Given the description of an element on the screen output the (x, y) to click on. 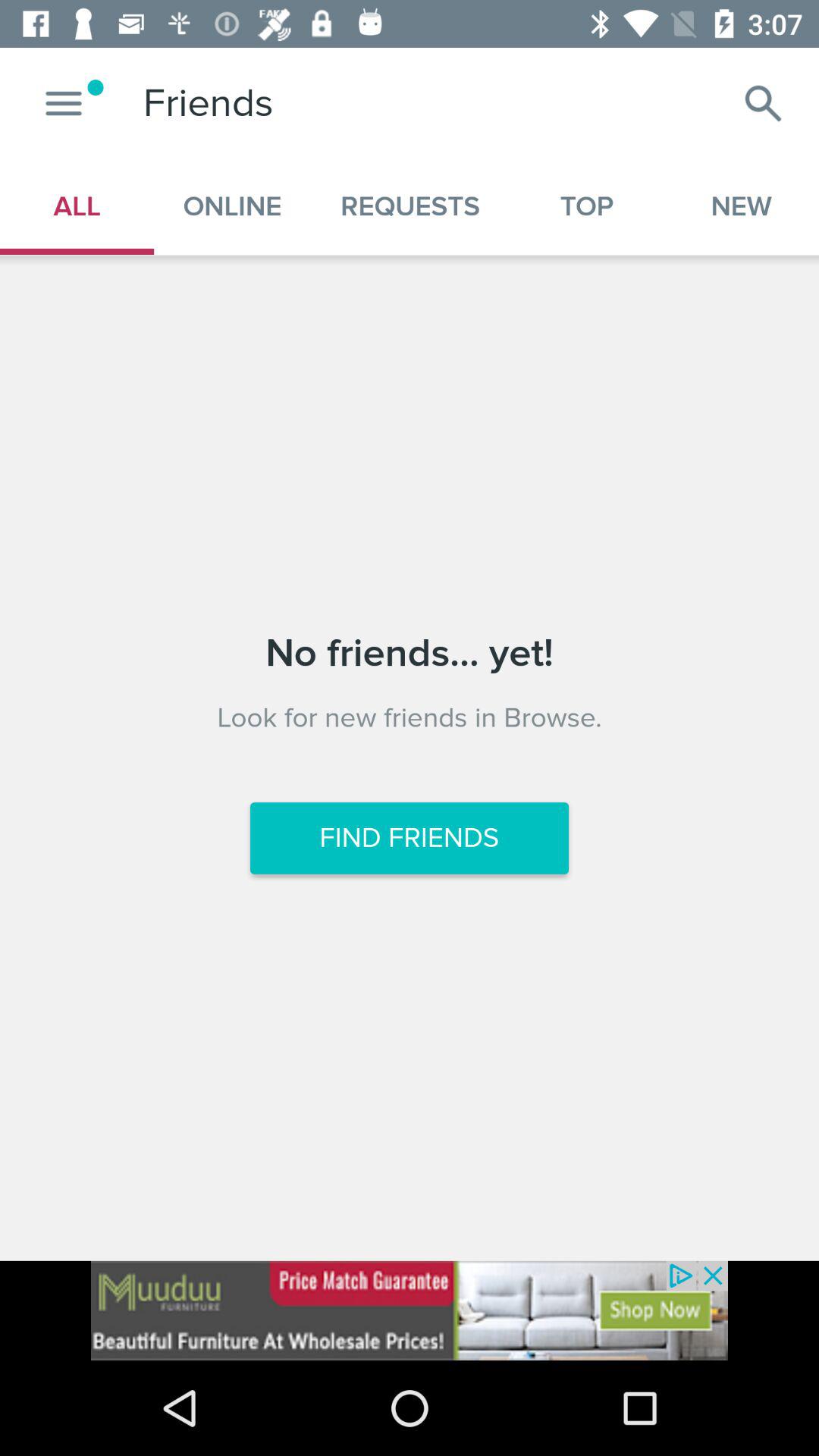
open up menu (63, 103)
